Given the description of an element on the screen output the (x, y) to click on. 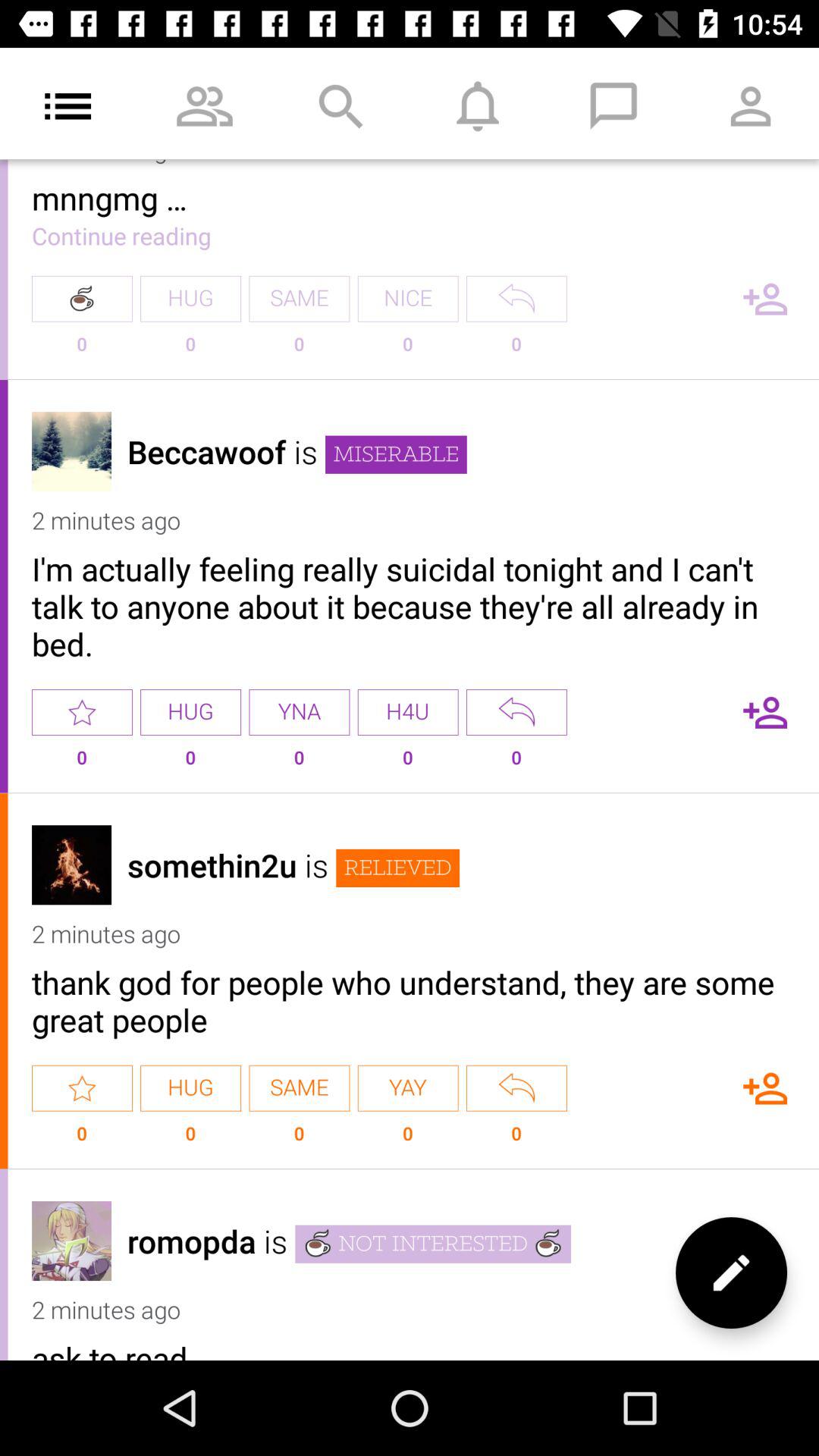
add user (765, 712)
